Given the description of an element on the screen output the (x, y) to click on. 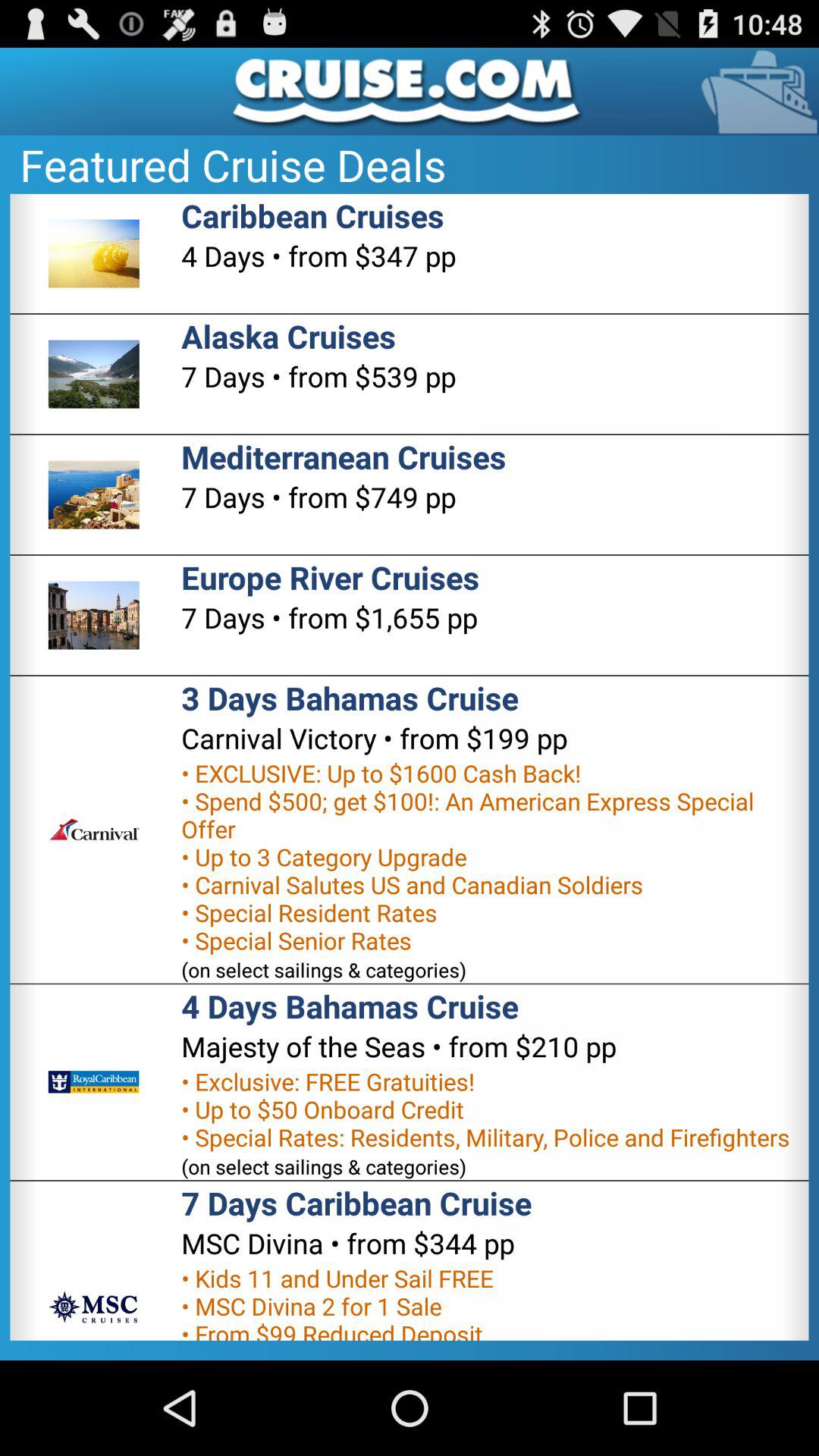
swipe until alaska cruises item (288, 335)
